Given the description of an element on the screen output the (x, y) to click on. 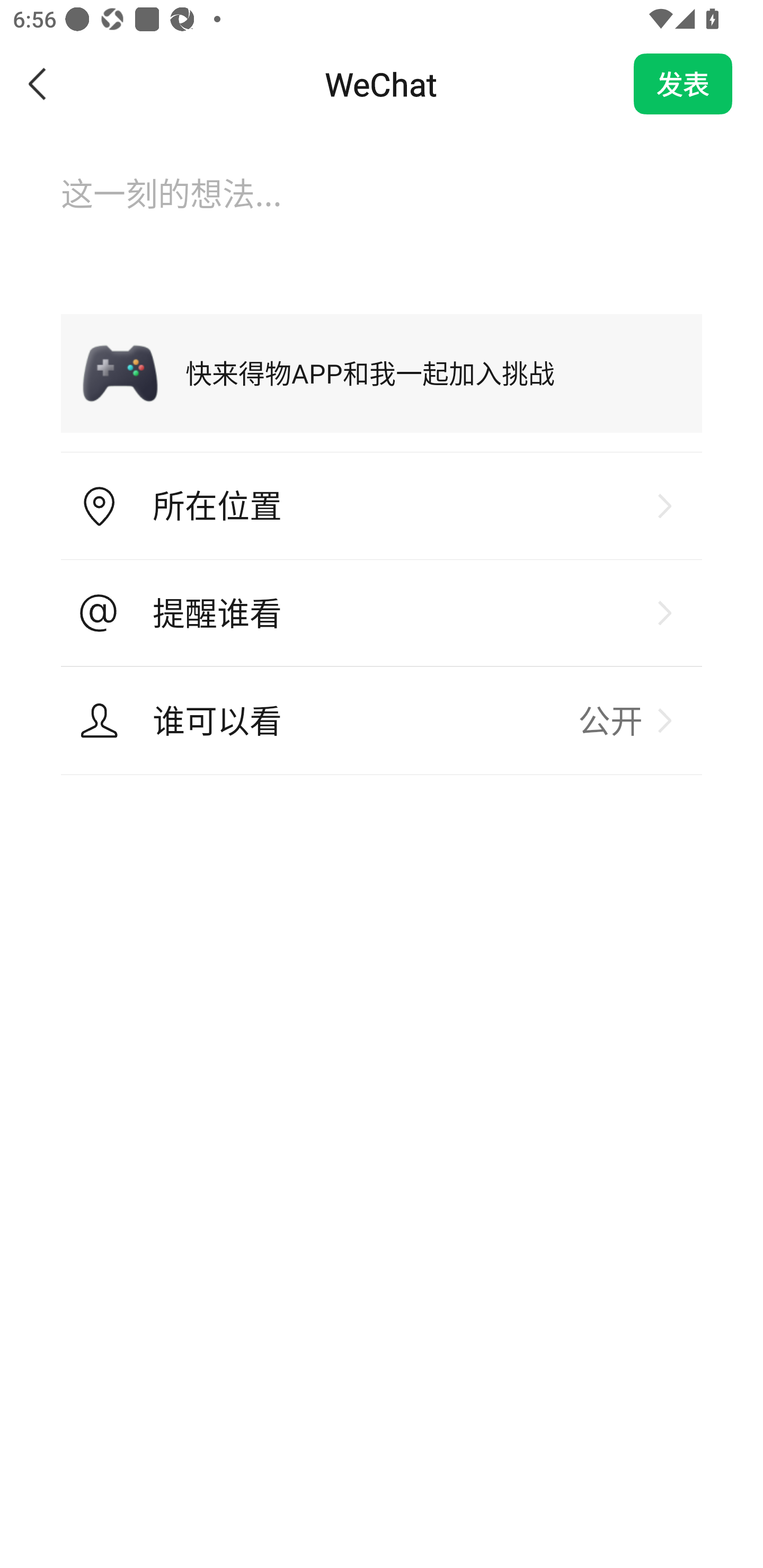
返回 (38, 83)
发表 (683, 83)
这一刻的想法... (381, 211)
快来得物APP和我一起加入挑战 (381, 372)
所在位置 (381, 506)
提醒谁看  提醒谁看 (381, 612)
谁可以看 公开 (381, 720)
